Given the description of an element on the screen output the (x, y) to click on. 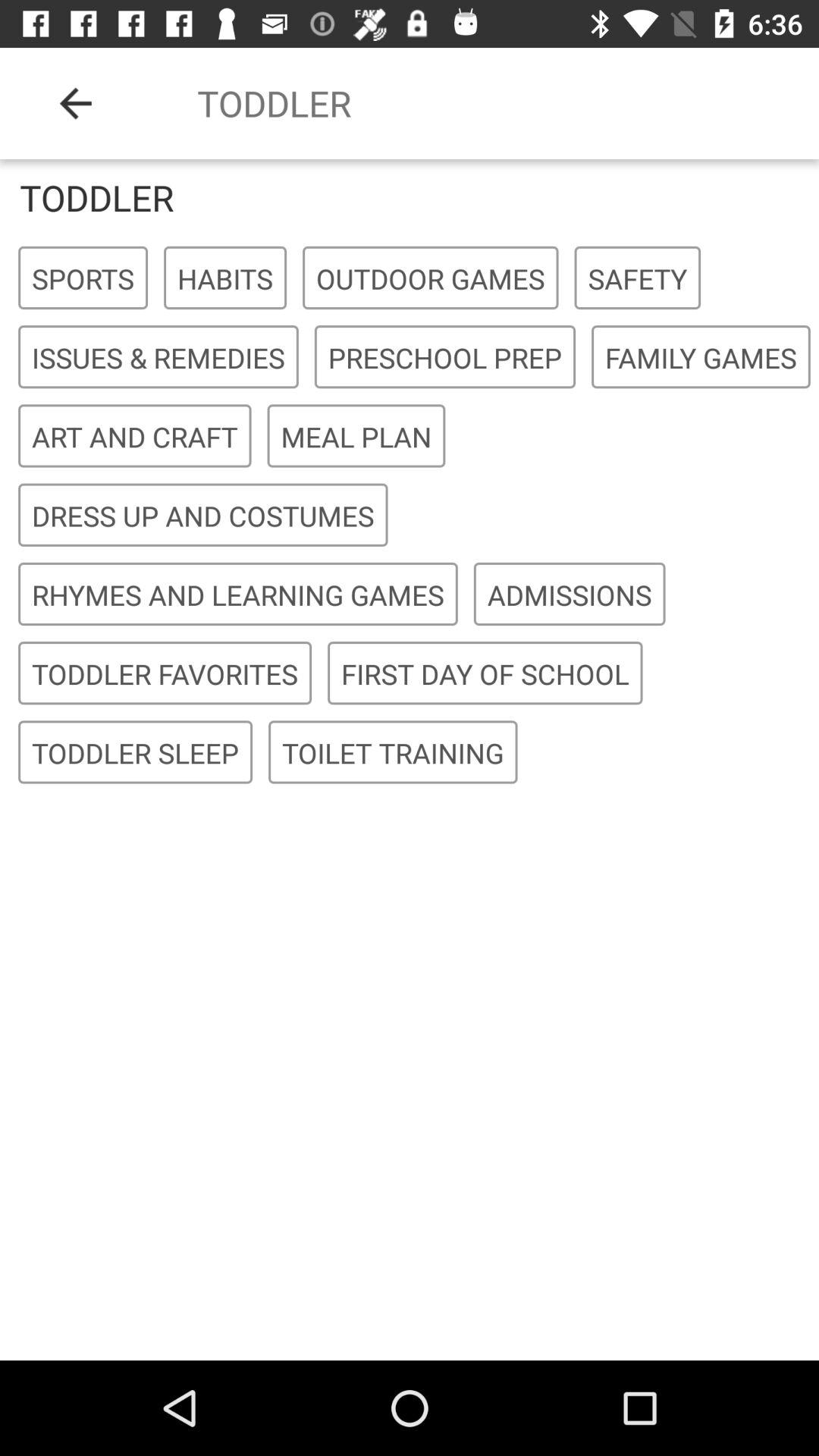
swipe until the issues & remedies icon (157, 357)
